Given the description of an element on the screen output the (x, y) to click on. 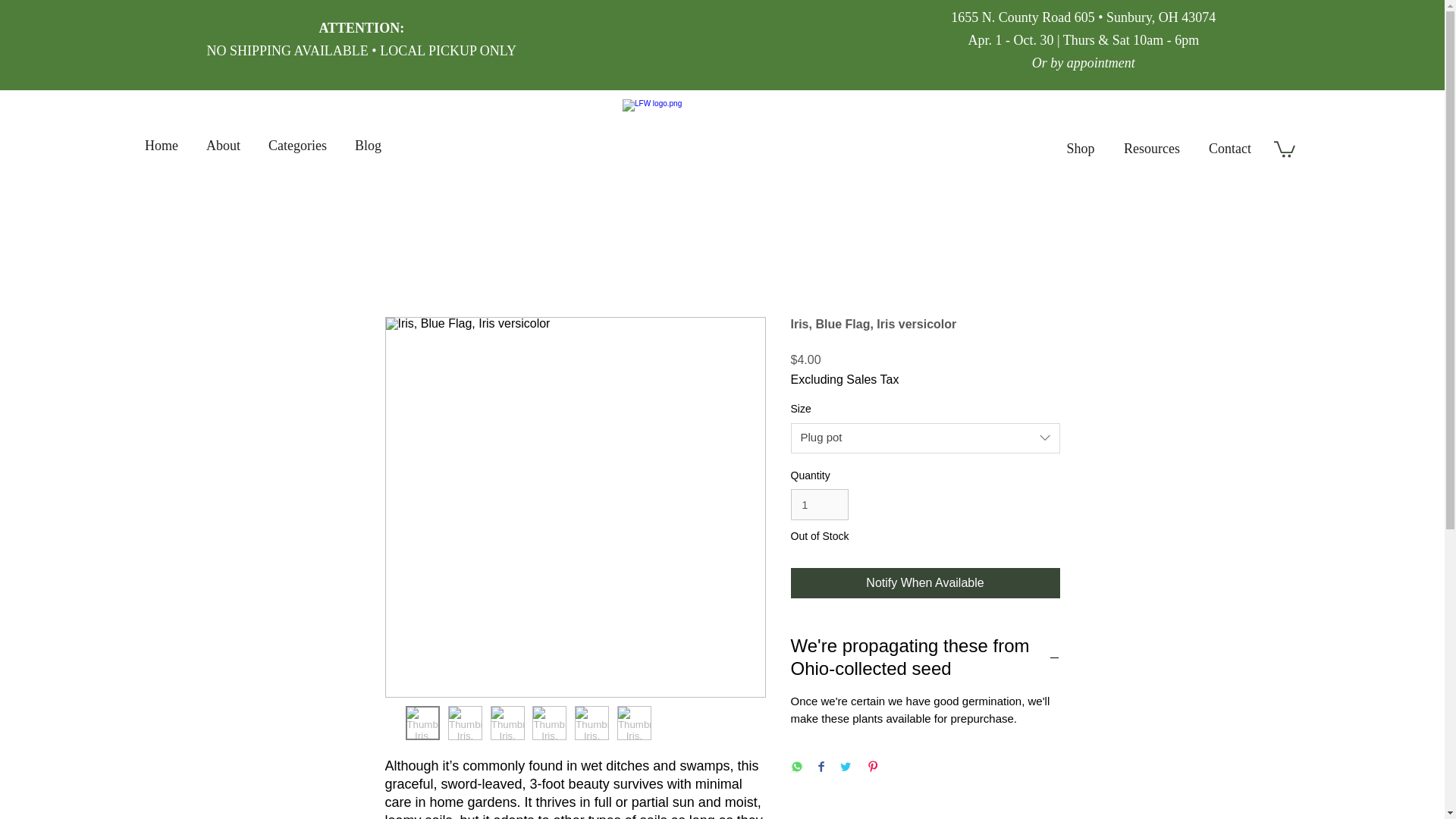
Shop (1080, 148)
Blog (367, 145)
Plug pot (924, 438)
We're propagating these from Ohio-collected seed (924, 657)
Contact (1229, 148)
Notify When Available (924, 583)
1 (818, 504)
Home (161, 145)
Resources (1151, 148)
About (222, 145)
